Given the description of an element on the screen output the (x, y) to click on. 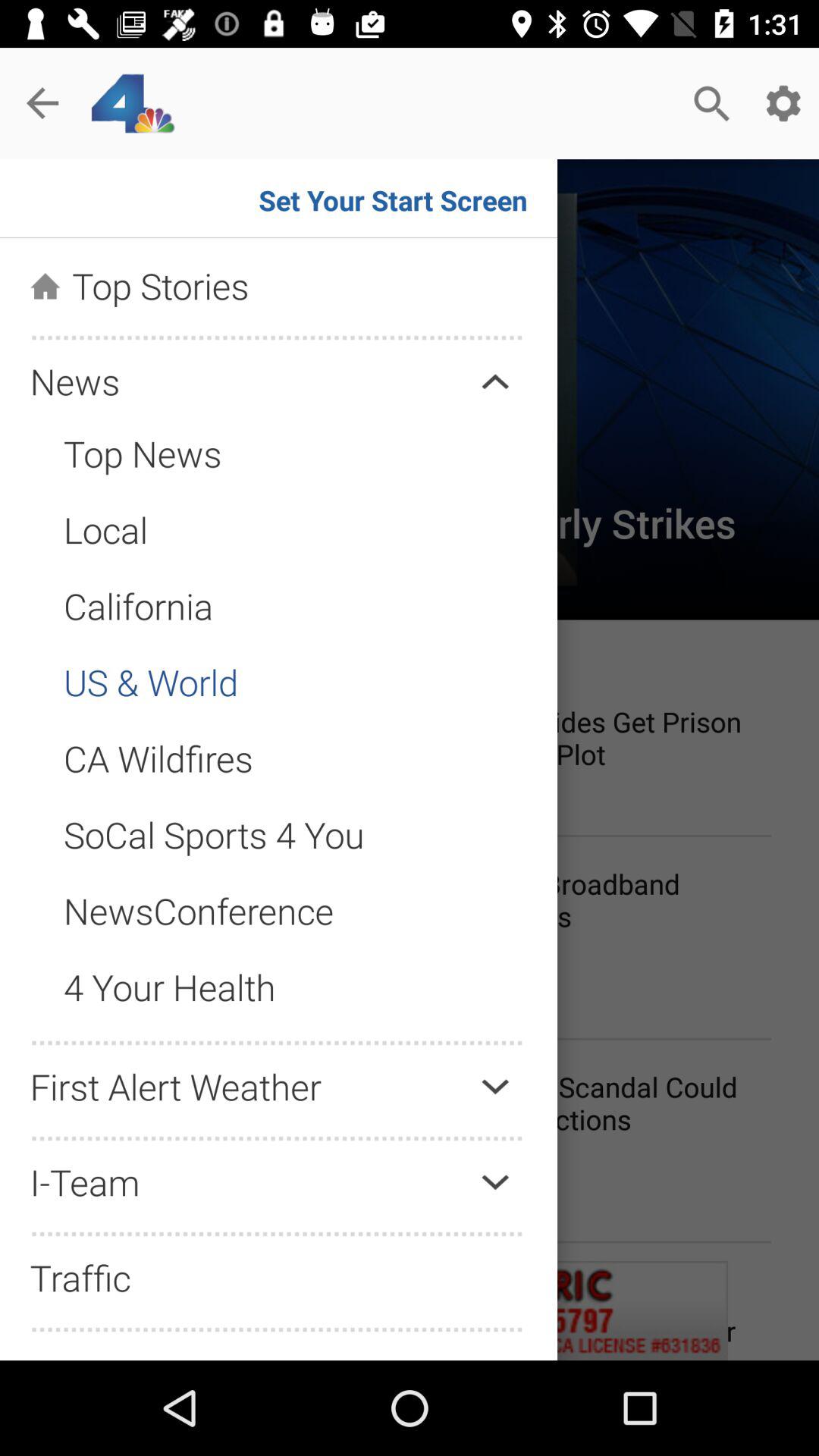
click on search icon below notification bar (711, 103)
